Given the description of an element on the screen output the (x, y) to click on. 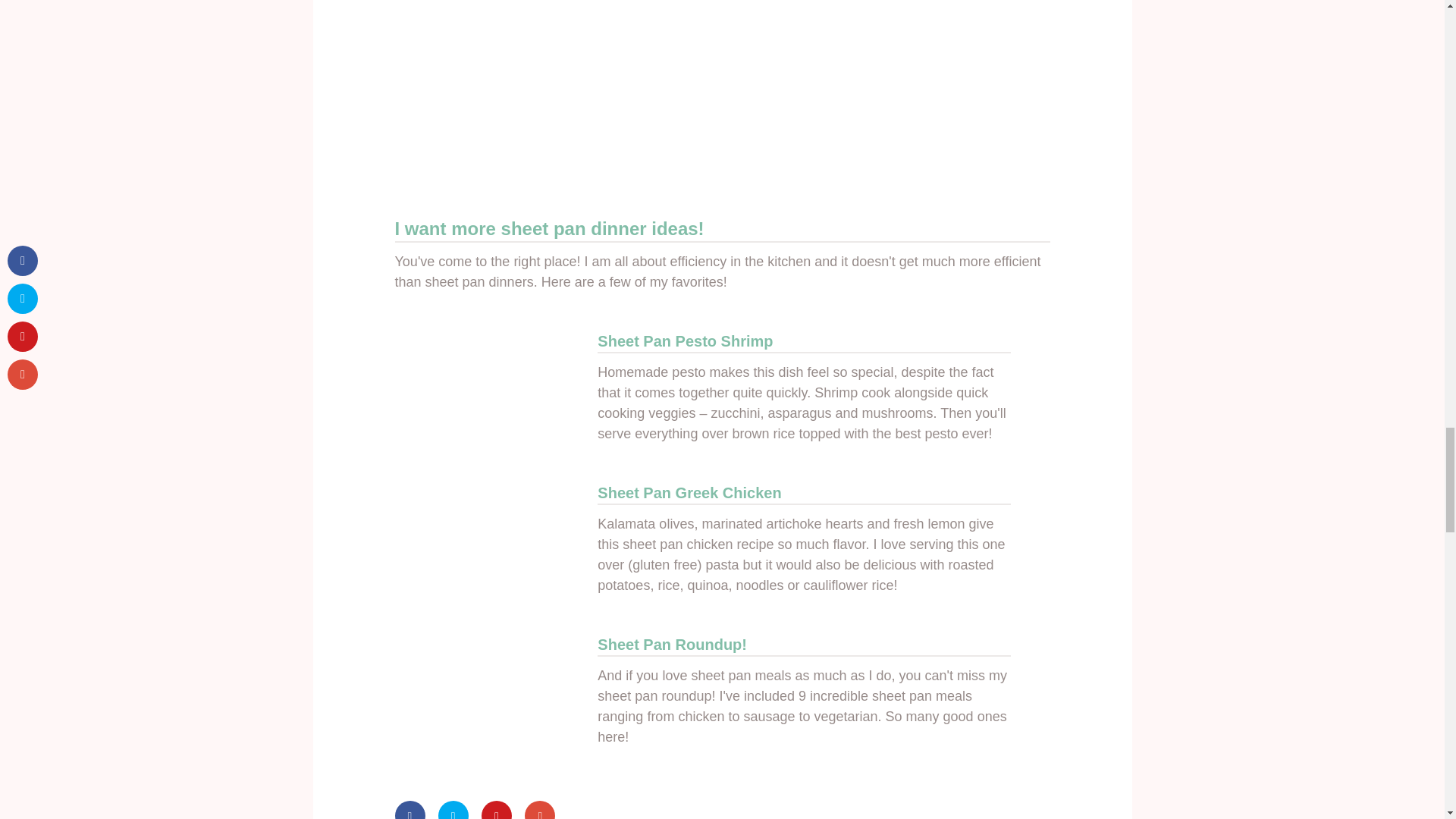
Sheet Pan Greek Chicken (688, 492)
Sheet Pan Pesto Shrimp (684, 340)
Sheet Pan Roundup! (671, 644)
